Given the description of an element on the screen output the (x, y) to click on. 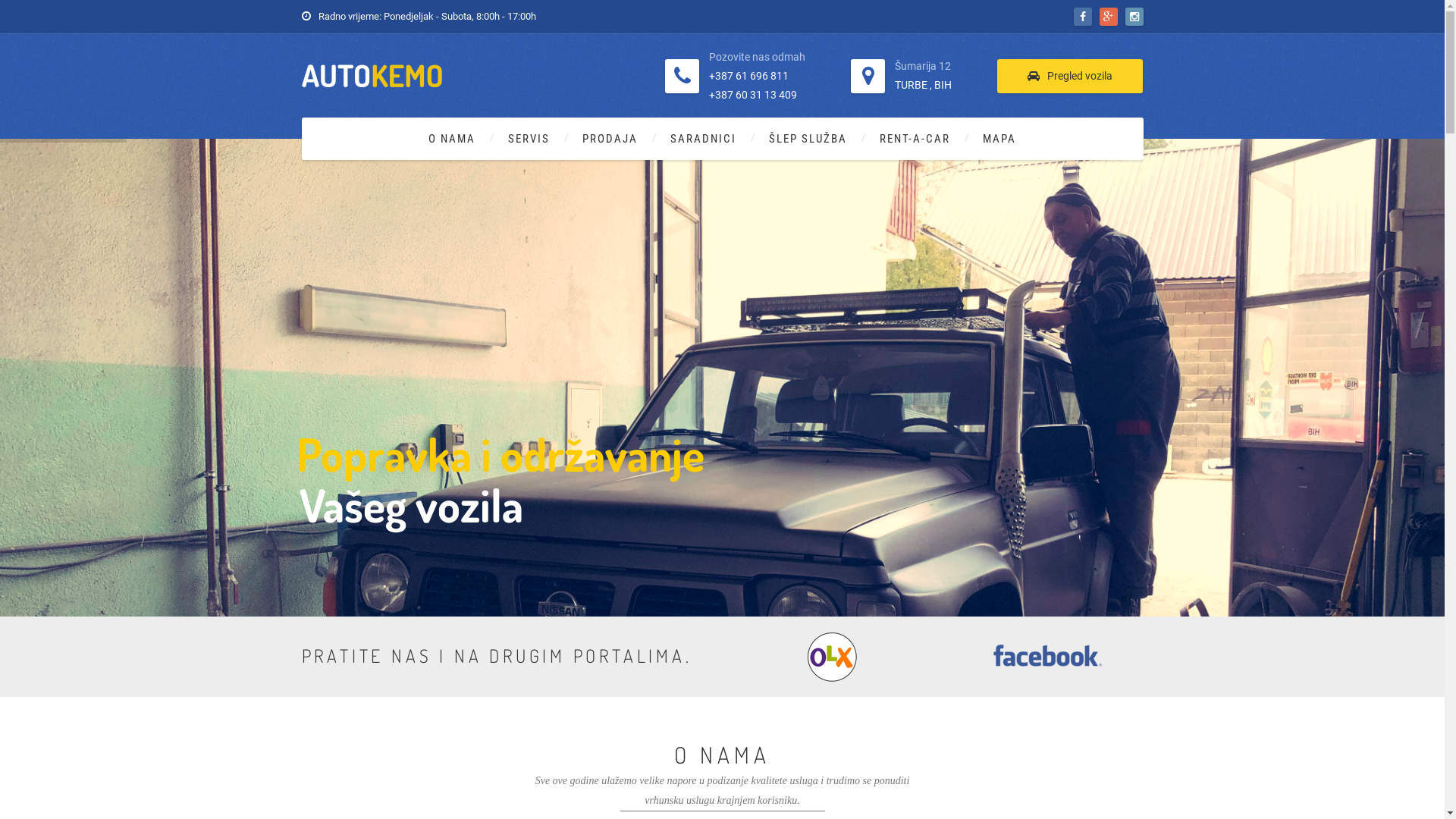
PRODAJA Element type: text (609, 138)
RENT-A-CAR Element type: text (914, 138)
MAPA Element type: text (999, 138)
O NAMA Element type: text (451, 138)
SERVIS Element type: text (528, 138)
SARADNICI Element type: text (703, 138)
Pregled vozila Element type: text (1069, 76)
